Given the description of an element on the screen output the (x, y) to click on. 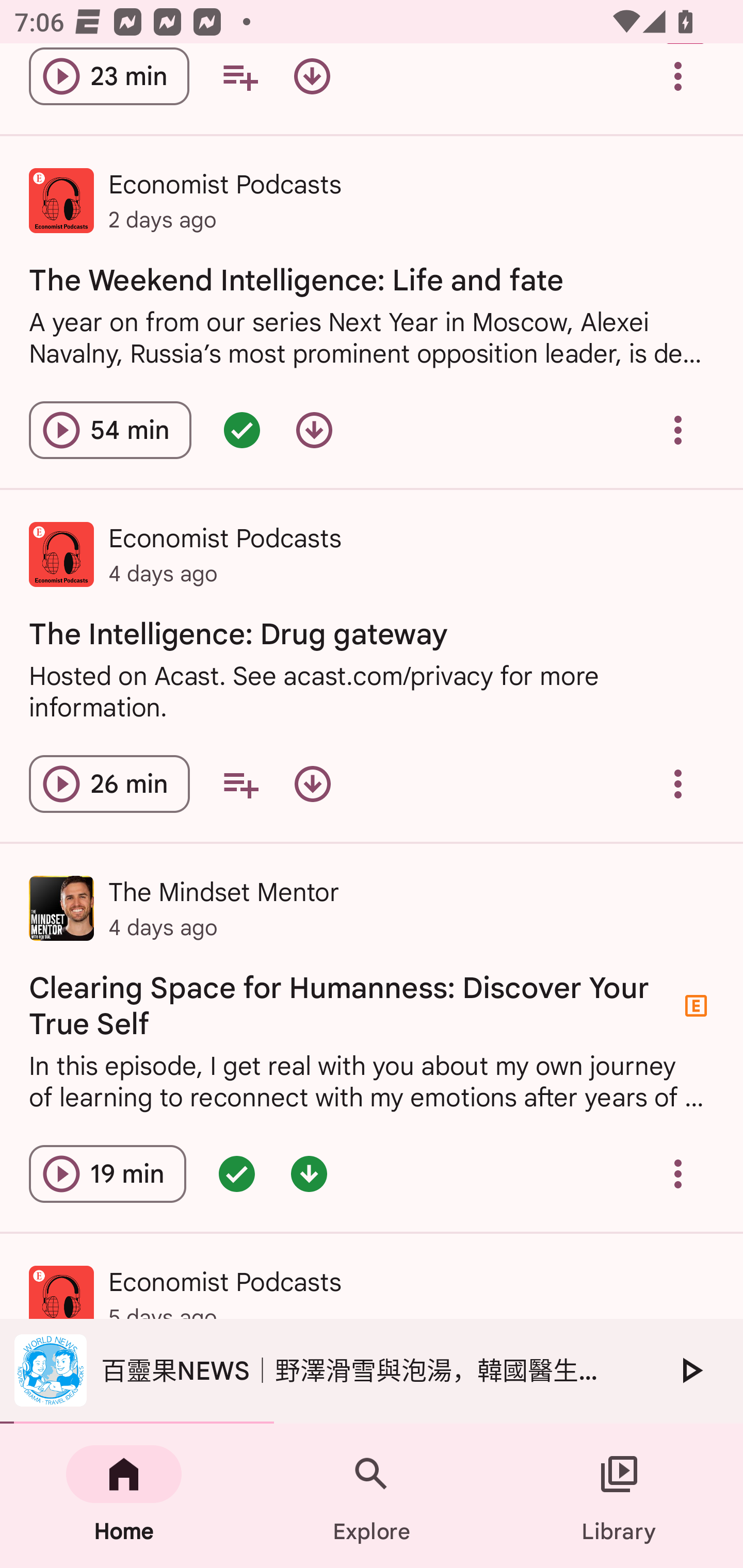
Play episode 3 Ways To Re-Program Your Mind 23 min (108, 81)
Add to your queue (239, 81)
Download episode (312, 81)
Overflow menu (677, 81)
Episode queued - double tap for options (241, 430)
Download episode (313, 430)
Overflow menu (677, 430)
Play episode The Intelligence: Drug gateway 26 min (109, 783)
Add to your queue (240, 783)
Download episode (312, 783)
Overflow menu (677, 783)
Episode queued - double tap for options (236, 1173)
Episode downloaded - double tap for options (308, 1173)
Overflow menu (677, 1173)
Play (690, 1370)
Explore (371, 1495)
Library (619, 1495)
